Given the description of an element on the screen output the (x, y) to click on. 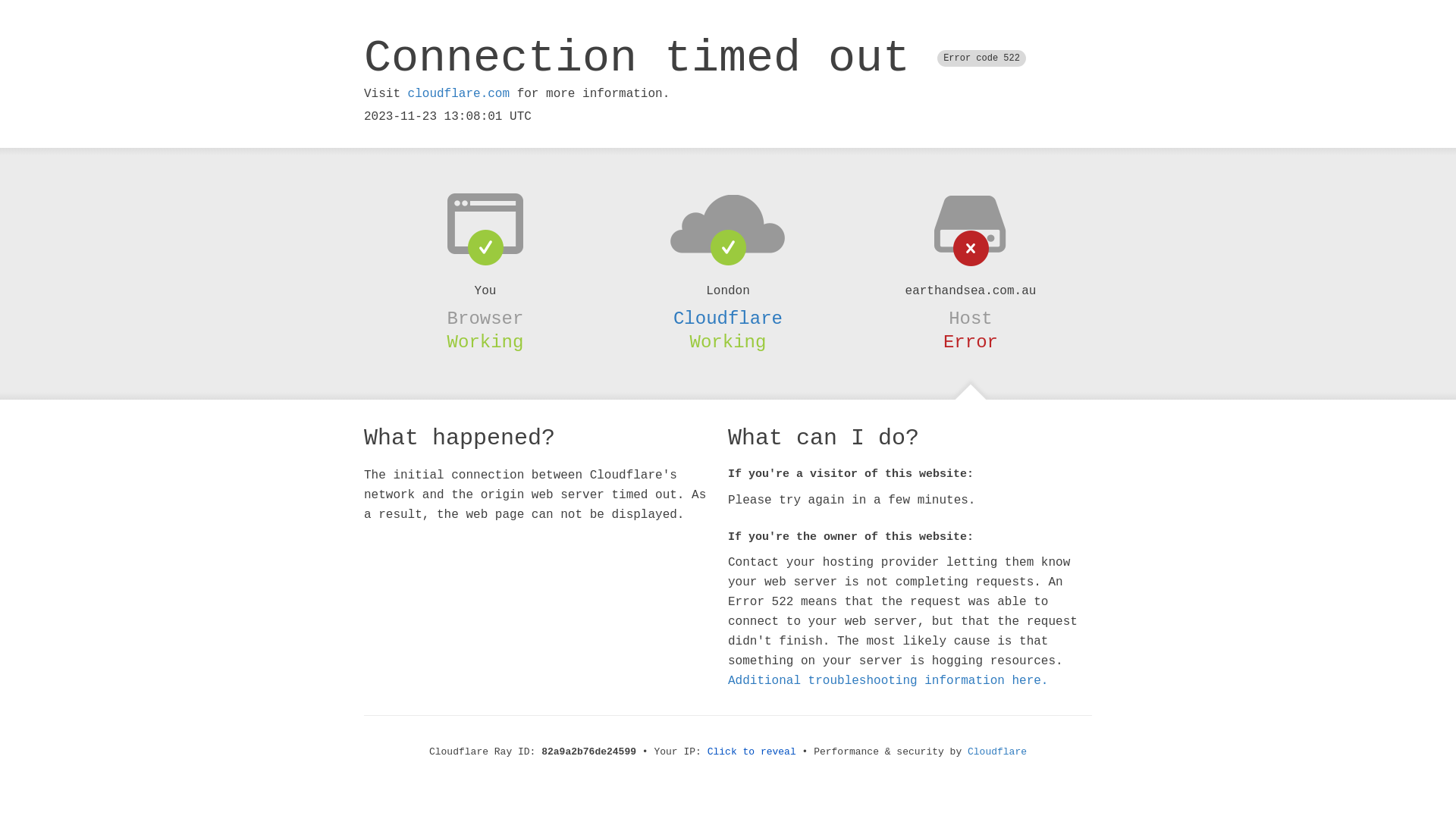
Cloudflare Element type: text (727, 318)
Cloudflare Element type: text (996, 751)
Additional troubleshooting information here. Element type: text (888, 680)
cloudflare.com Element type: text (458, 93)
Click to reveal Element type: text (751, 751)
